Given the description of an element on the screen output the (x, y) to click on. 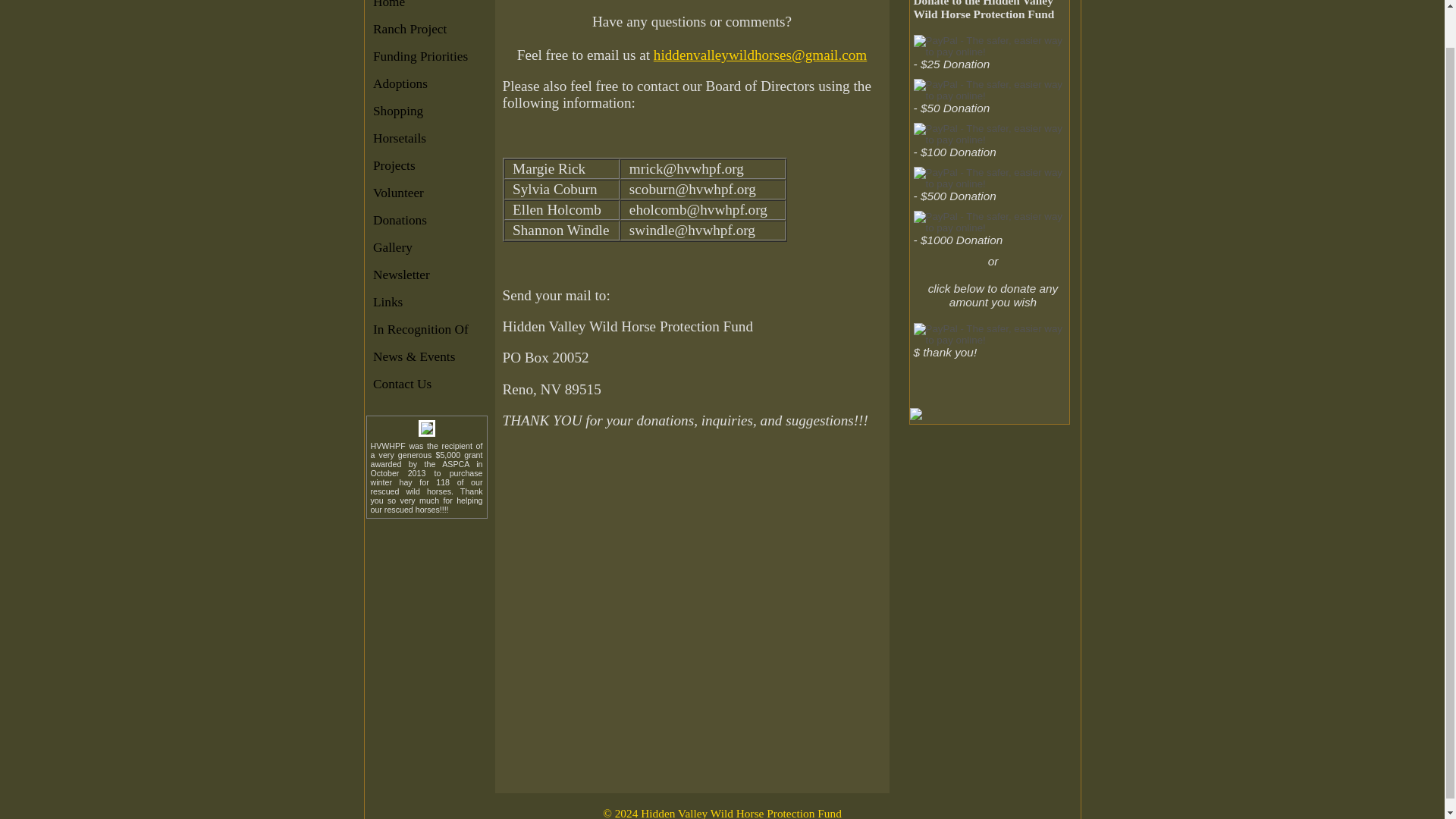
Shopping (426, 111)
Funding Priorities (426, 56)
Horsetails (426, 138)
Volunteer (426, 193)
Contact Us (426, 384)
Ranch Project (426, 29)
In Recognition Of (426, 330)
Home (426, 7)
Adoptions (426, 84)
Donations (426, 220)
